Given the description of an element on the screen output the (x, y) to click on. 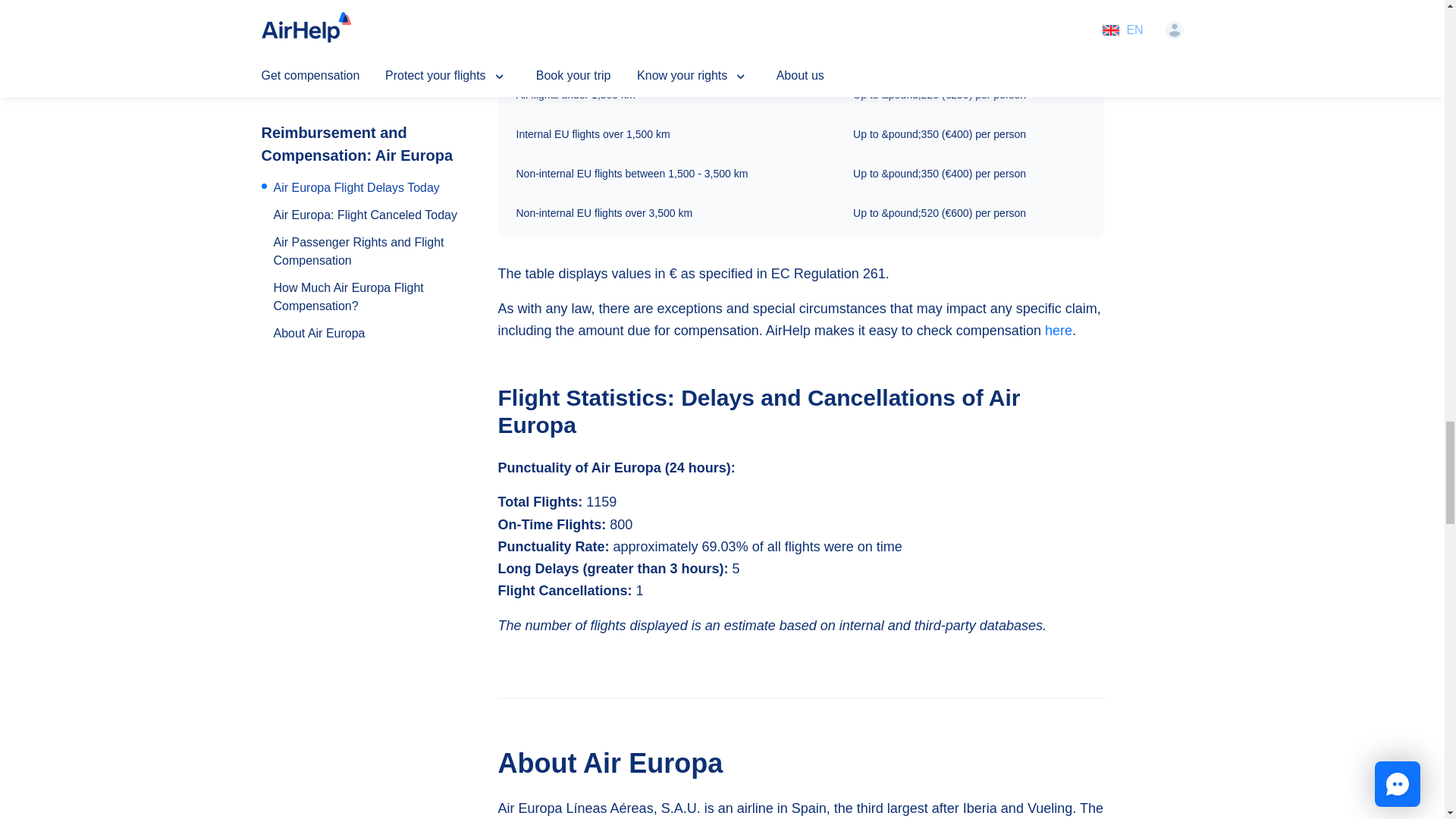
here (1058, 330)
